Given the description of an element on the screen output the (x, y) to click on. 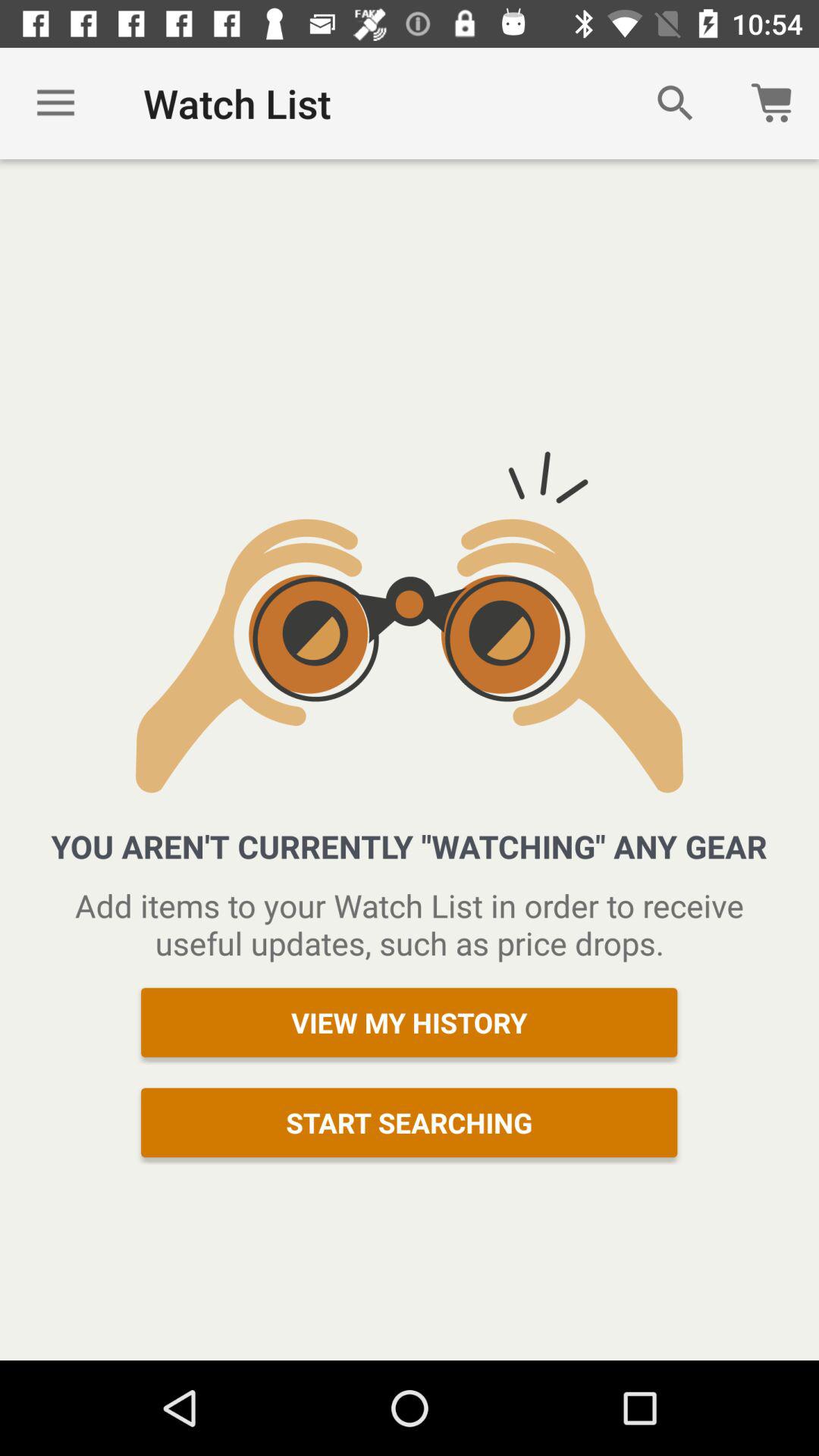
choose icon next to watch list (675, 103)
